Given the description of an element on the screen output the (x, y) to click on. 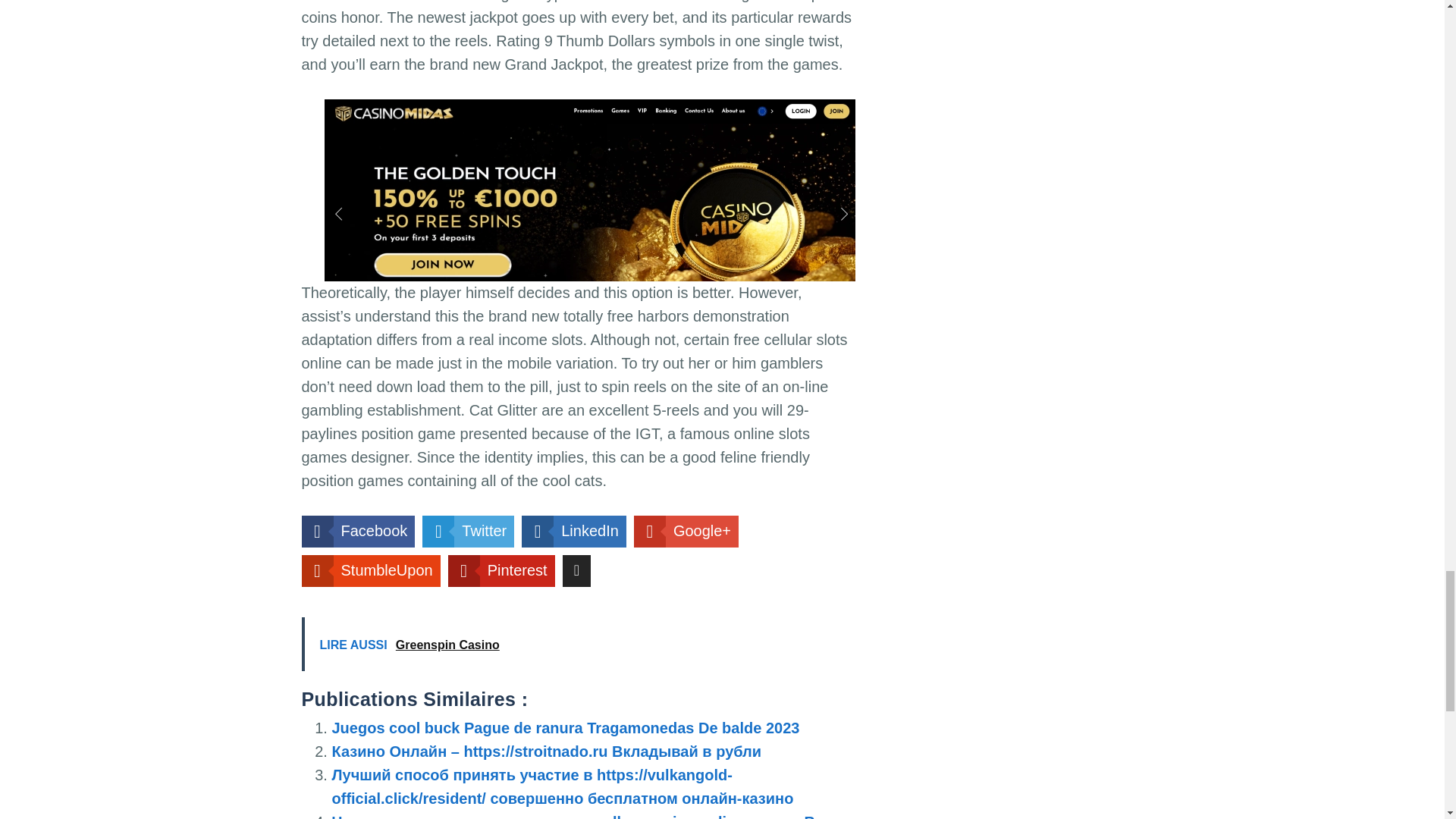
Facebook (357, 531)
StumbleUpon (371, 571)
Pinterest (501, 571)
Juegos cool buck Pague de ranura Tragamonedas De balde 2023 (565, 727)
LIRE AUSSI  Greenspin Casino (578, 643)
Twitter (467, 531)
LinkedIn (573, 531)
Juegos cool buck Pague de ranura Tragamonedas De balde 2023 (565, 727)
